Given the description of an element on the screen output the (x, y) to click on. 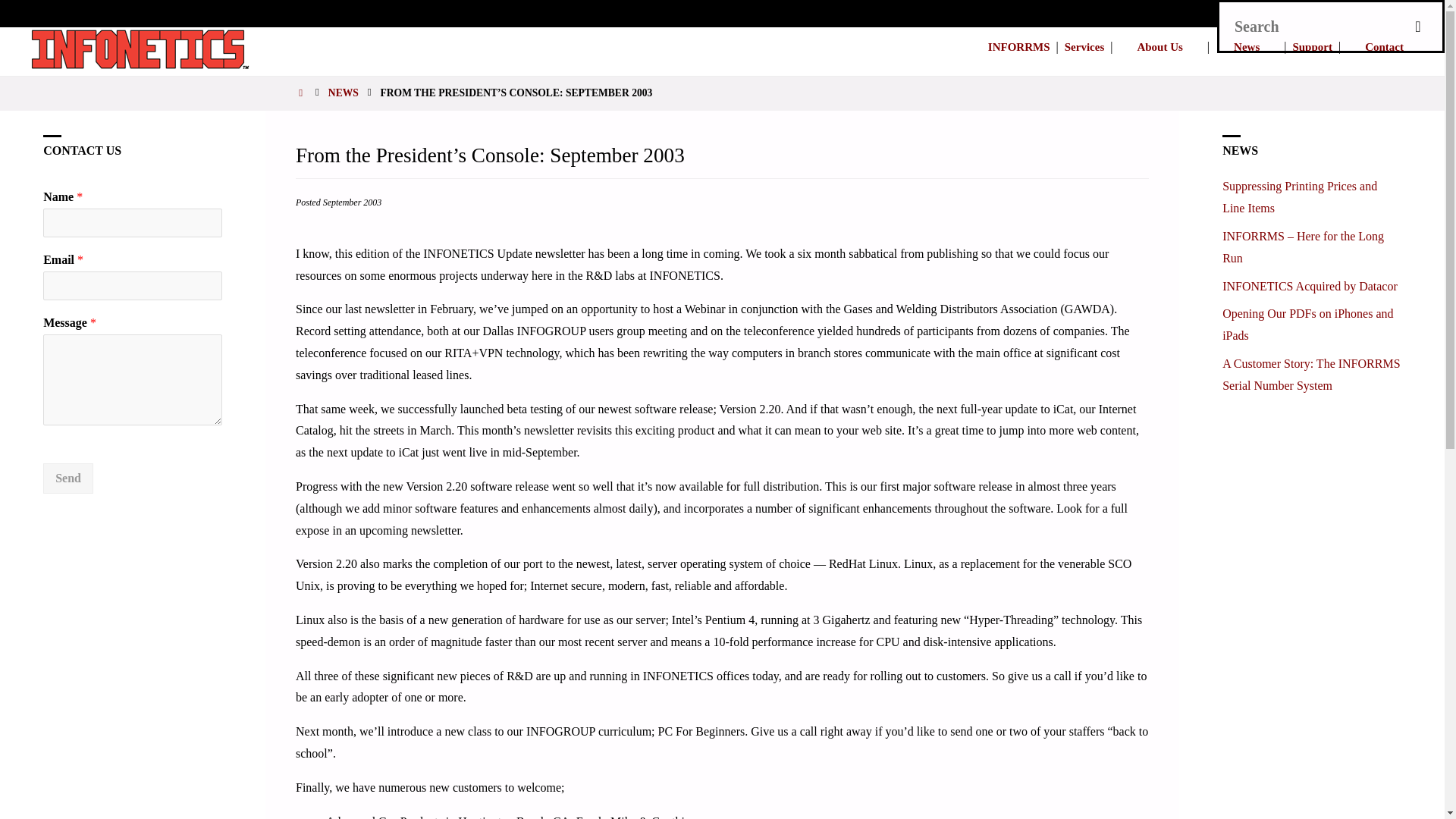
Home (301, 92)
INFORRMS (1018, 47)
Services (1083, 47)
